Given the description of an element on the screen output the (x, y) to click on. 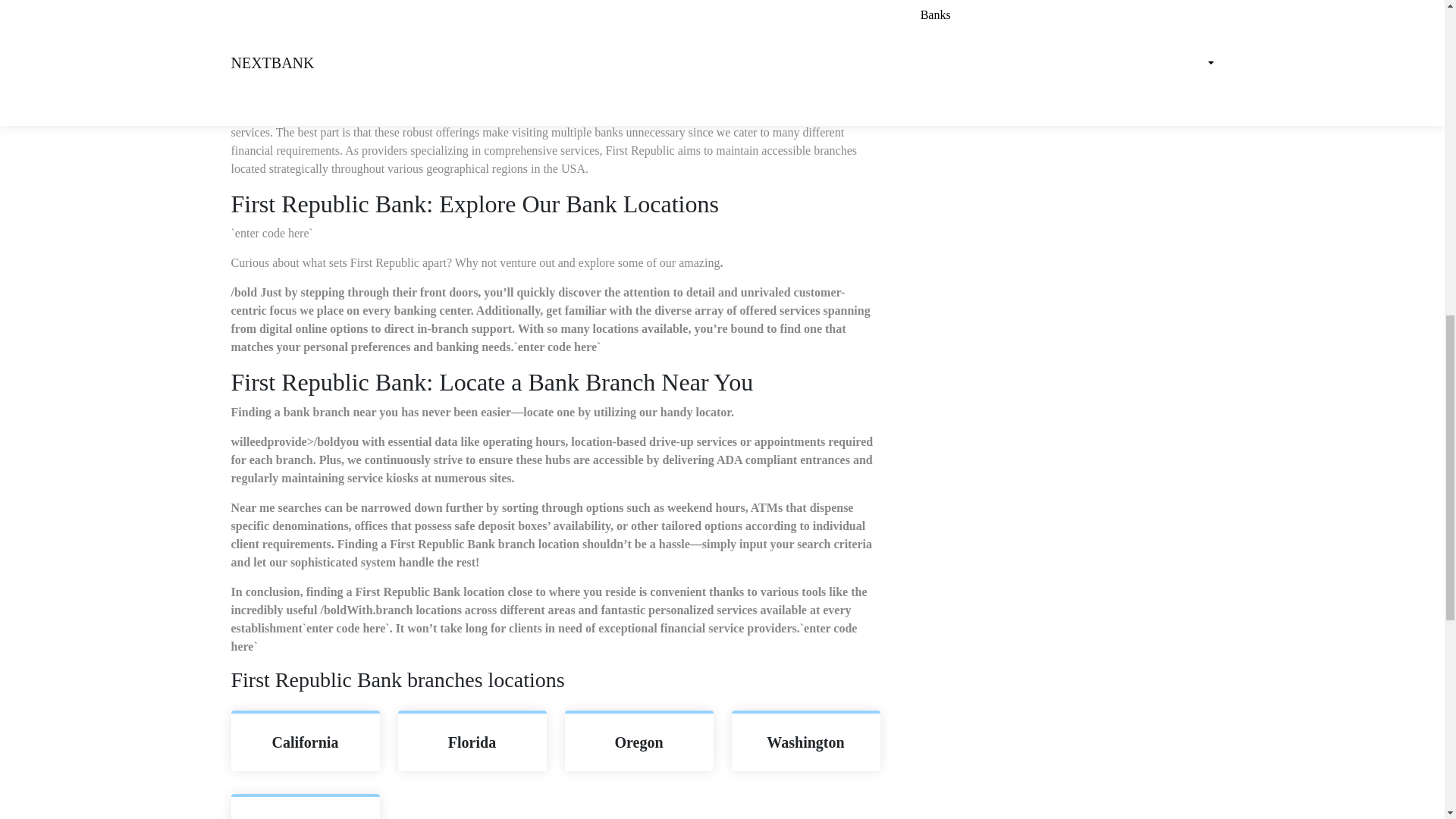
California (304, 742)
Florida (472, 742)
Wyoming (304, 807)
Washington (805, 742)
Oregon (639, 742)
